Given the description of an element on the screen output the (x, y) to click on. 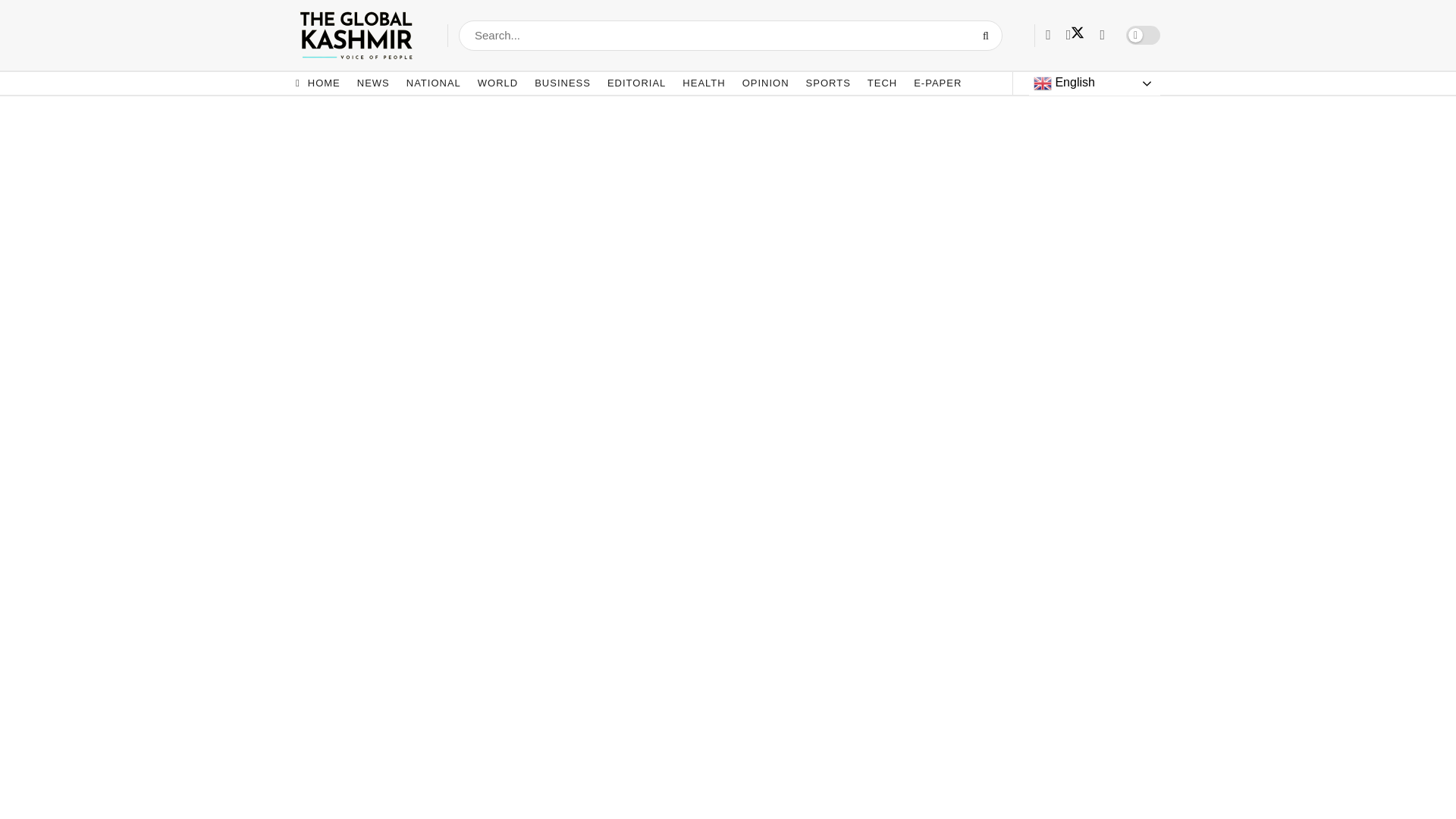
HOME (317, 83)
OPINION (765, 83)
TECH (881, 83)
HEALTH (703, 83)
EDITORIAL (636, 83)
NATIONAL (433, 83)
E-PAPER (937, 83)
NEWS (373, 83)
English (1094, 83)
WORLD (497, 83)
SPORTS (828, 83)
BUSINESS (562, 83)
